Given the description of an element on the screen output the (x, y) to click on. 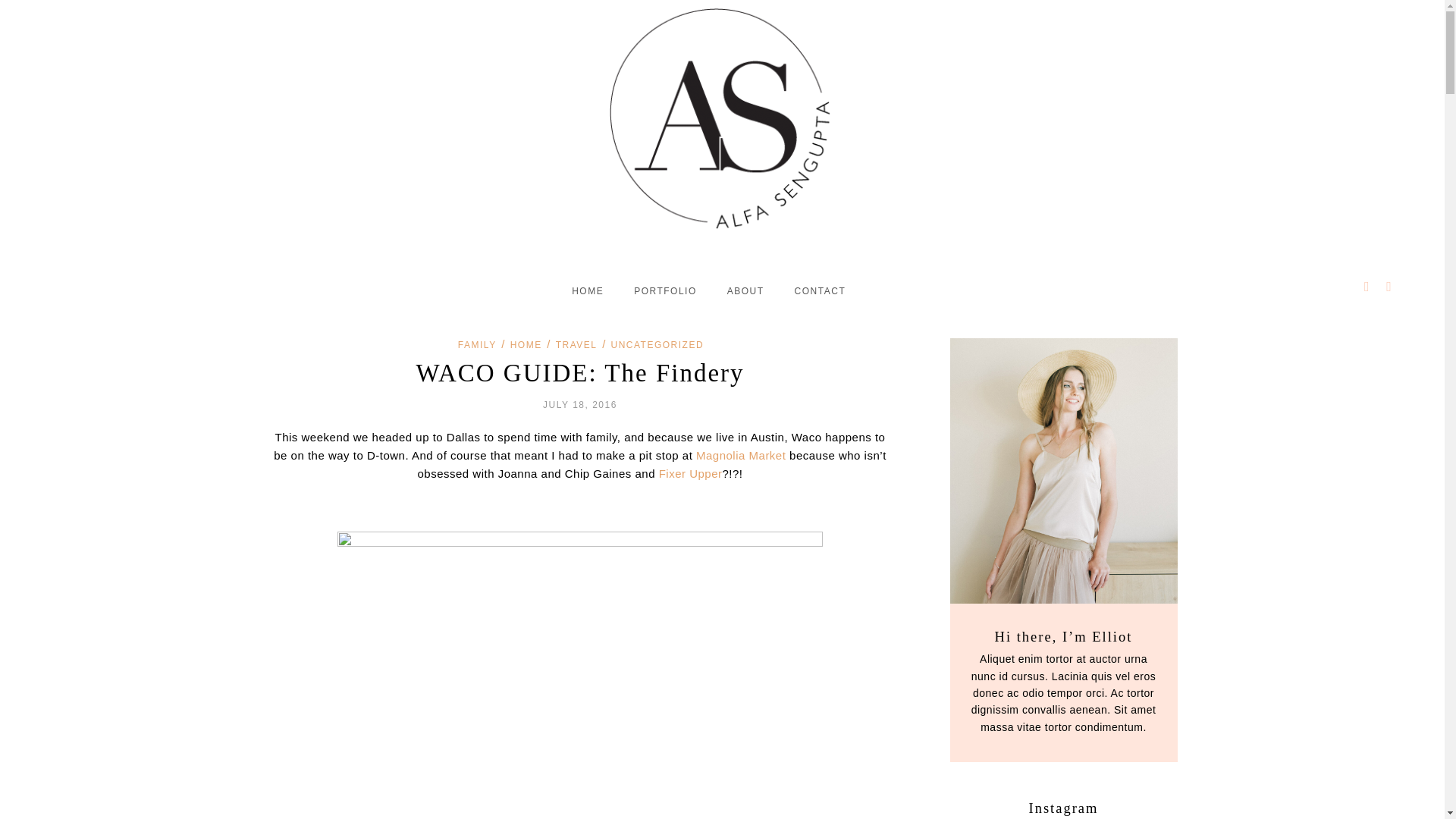
TRAVEL (576, 344)
HOME (526, 344)
JULY 18, 2016 (580, 404)
CONTACT (819, 290)
ABOUT (745, 290)
FAMILY (477, 344)
Fixer Upper (690, 472)
Magnolia Market (740, 454)
UNCATEGORIZED (657, 344)
HOME (588, 290)
